Given the description of an element on the screen output the (x, y) to click on. 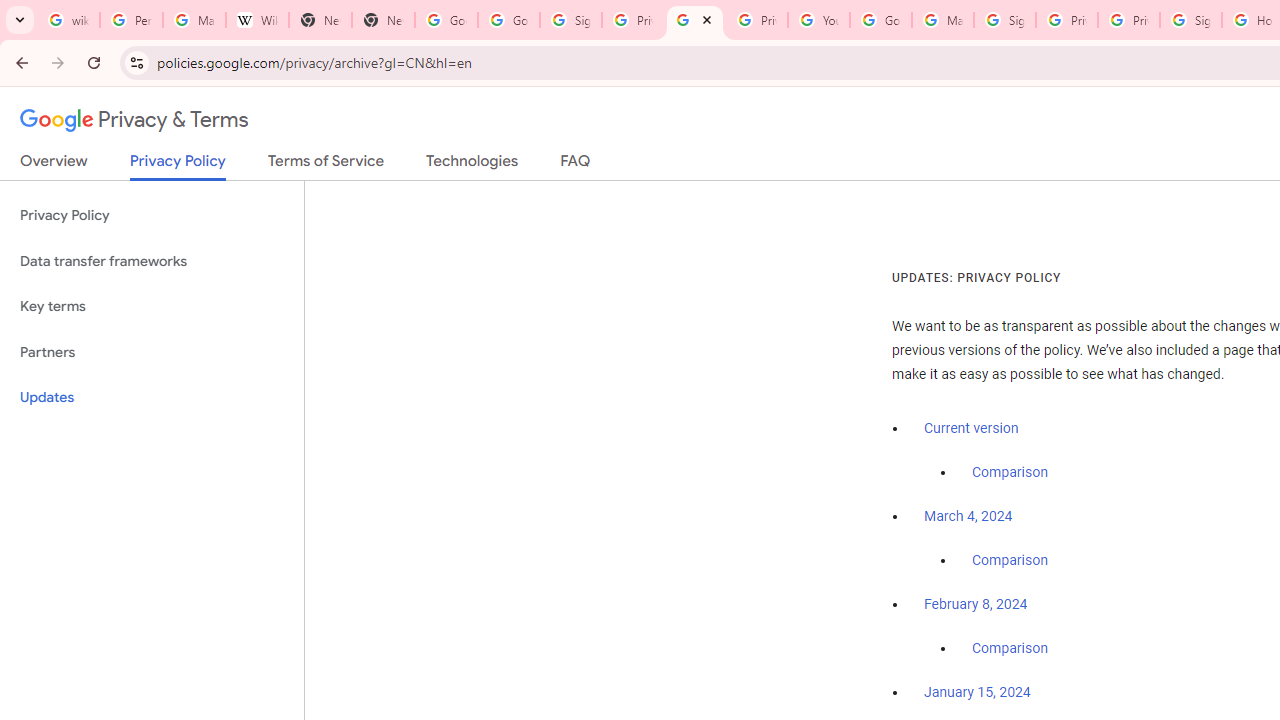
Comparison (1009, 649)
Manage your Location History - Google Search Help (194, 20)
Sign in - Google Accounts (1190, 20)
Google Drive: Sign-in (508, 20)
